Given the description of an element on the screen output the (x, y) to click on. 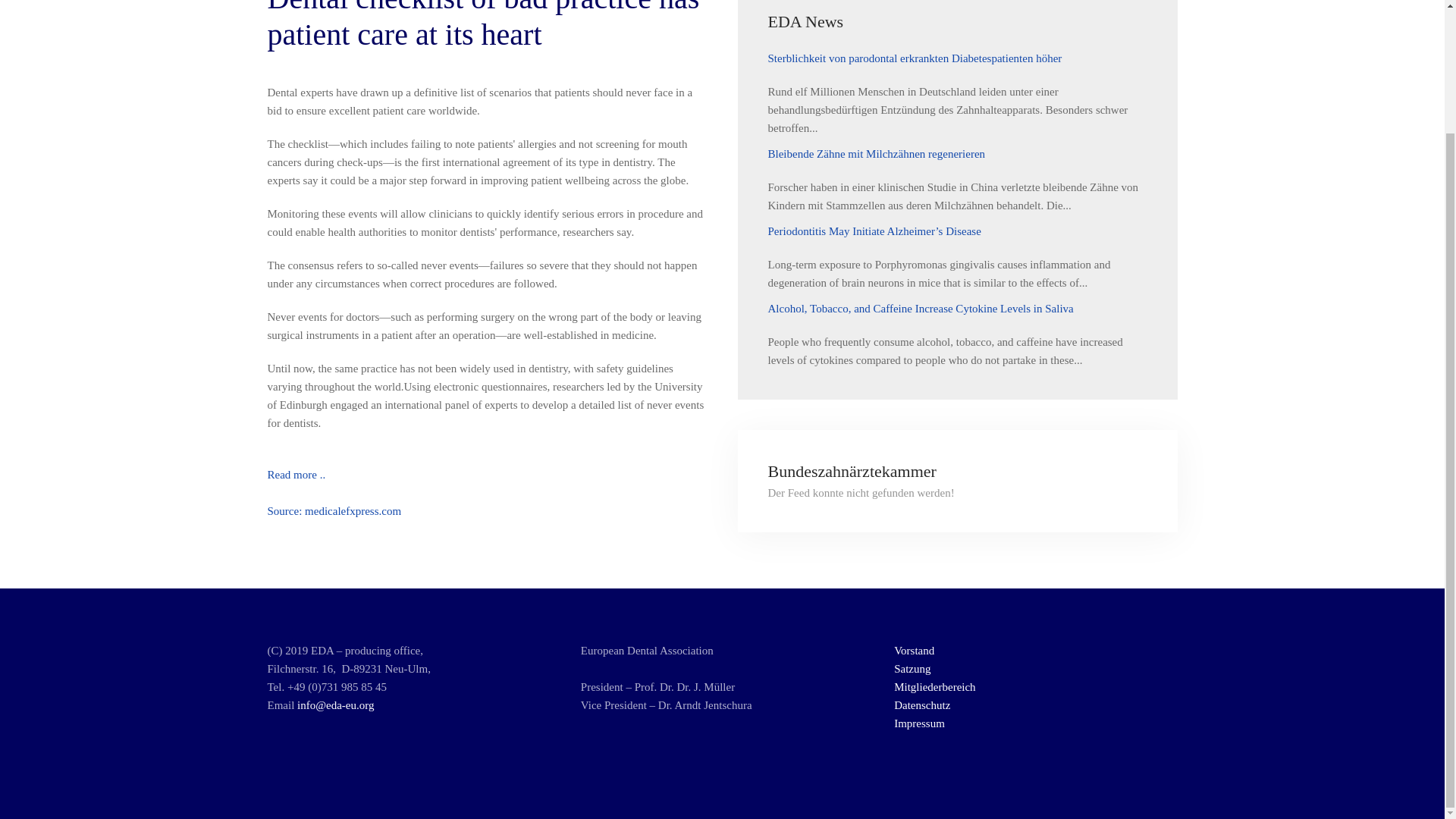
Source: medicalefxpress.com (333, 510)
Read more .. (295, 474)
